Given the description of an element on the screen output the (x, y) to click on. 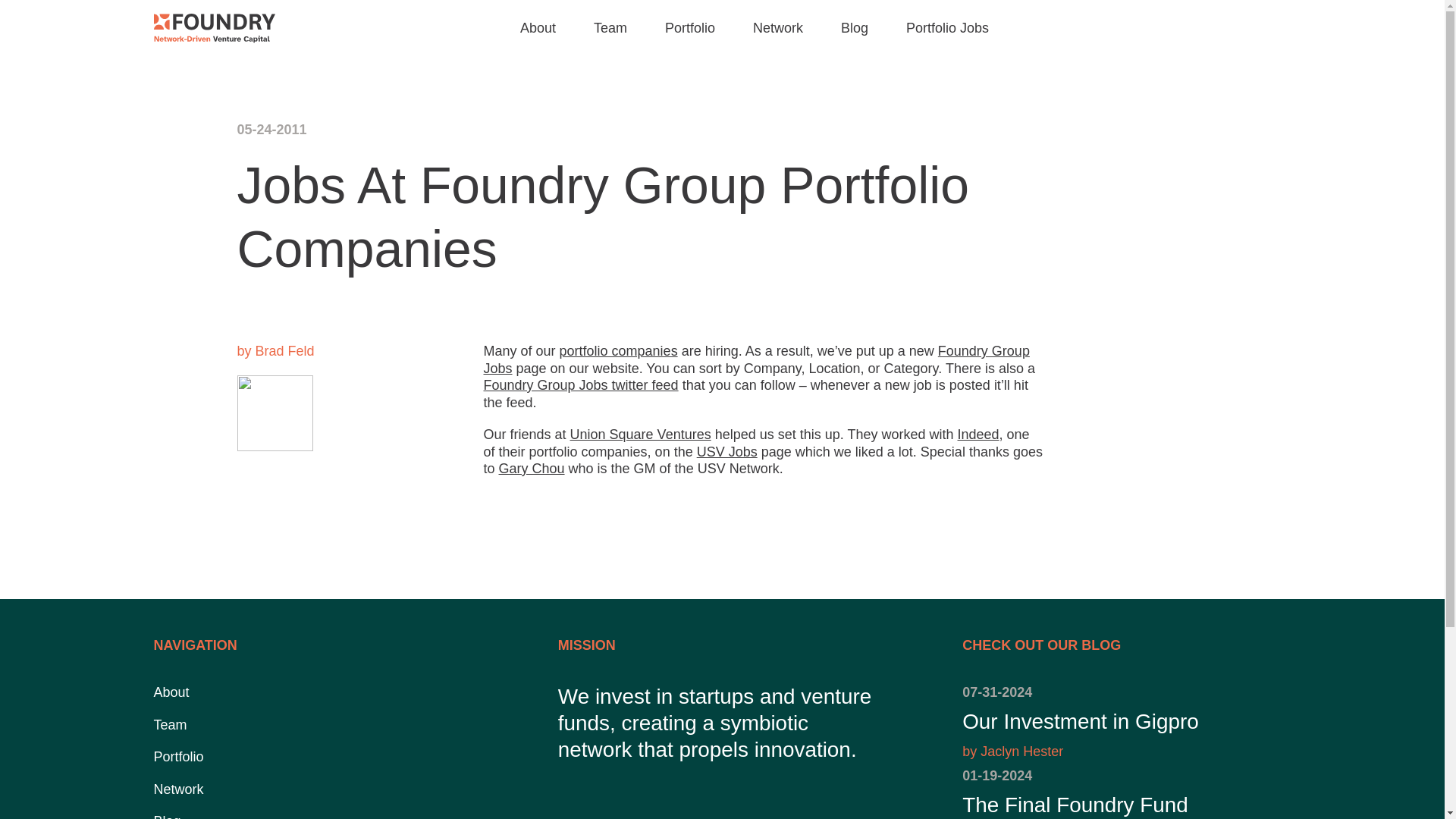
Gary Chou (1126, 721)
Team (531, 468)
About (1126, 793)
Foundry Group Jobs (610, 27)
portfolio companies (170, 692)
Blog (756, 359)
USV Jobs (618, 350)
Blog (166, 816)
Team (727, 451)
About (854, 27)
Union Square Ventures (169, 724)
Portfolio (537, 27)
Portfolio (640, 434)
